Given the description of an element on the screen output the (x, y) to click on. 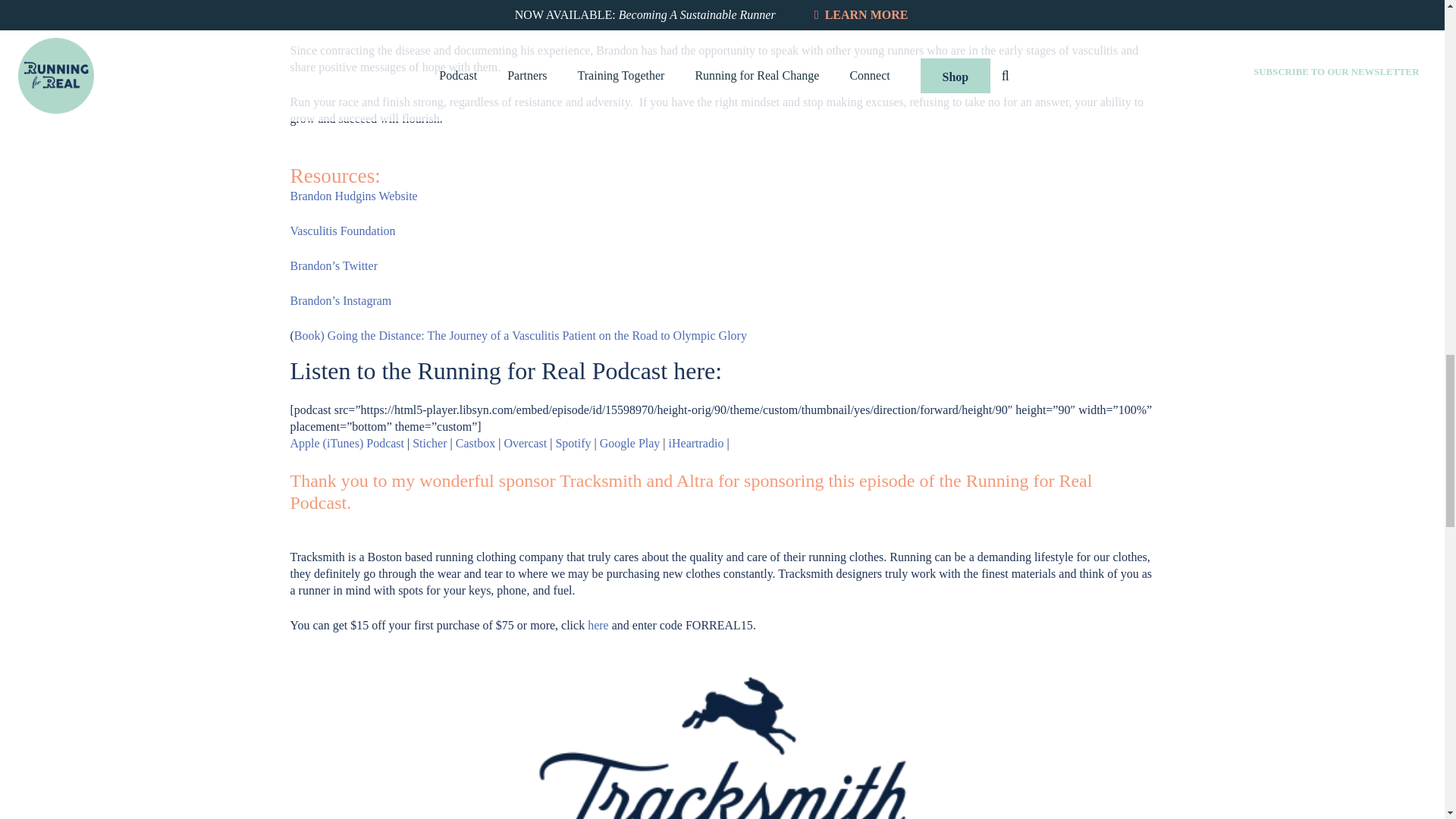
Google Play (630, 442)
Sticher (427, 442)
here (598, 625)
Spotify (572, 442)
Vasculitis Foundation (341, 230)
iHeartradio (695, 442)
Brandon Hudgins Website (352, 195)
Overcast (525, 442)
Castbox (475, 442)
